Given the description of an element on the screen output the (x, y) to click on. 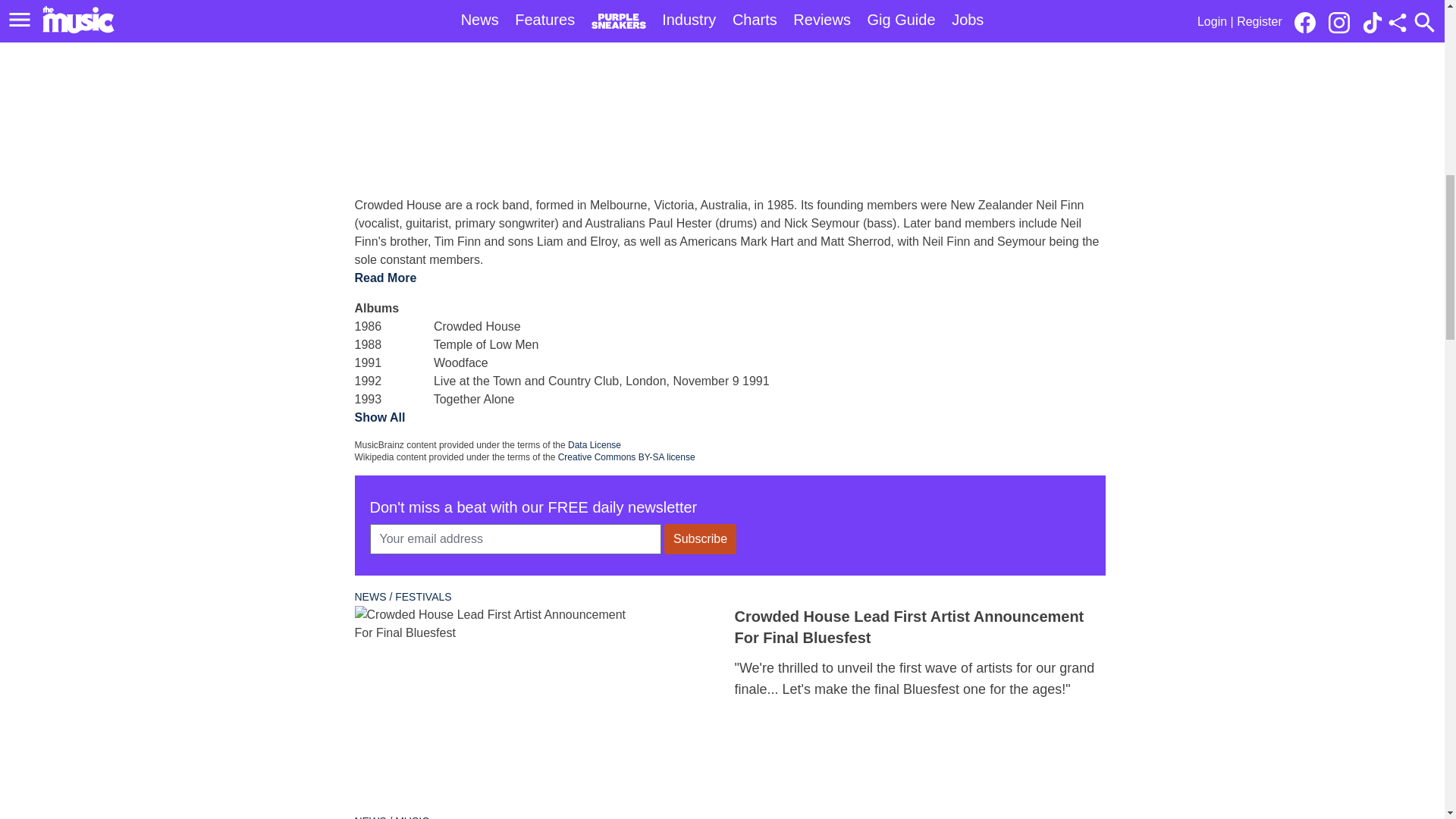
Data License (594, 444)
Creative Commons BY-SA license (626, 457)
Show All (380, 417)
Read More (385, 278)
Subscribe (699, 539)
